Given the description of an element on the screen output the (x, y) to click on. 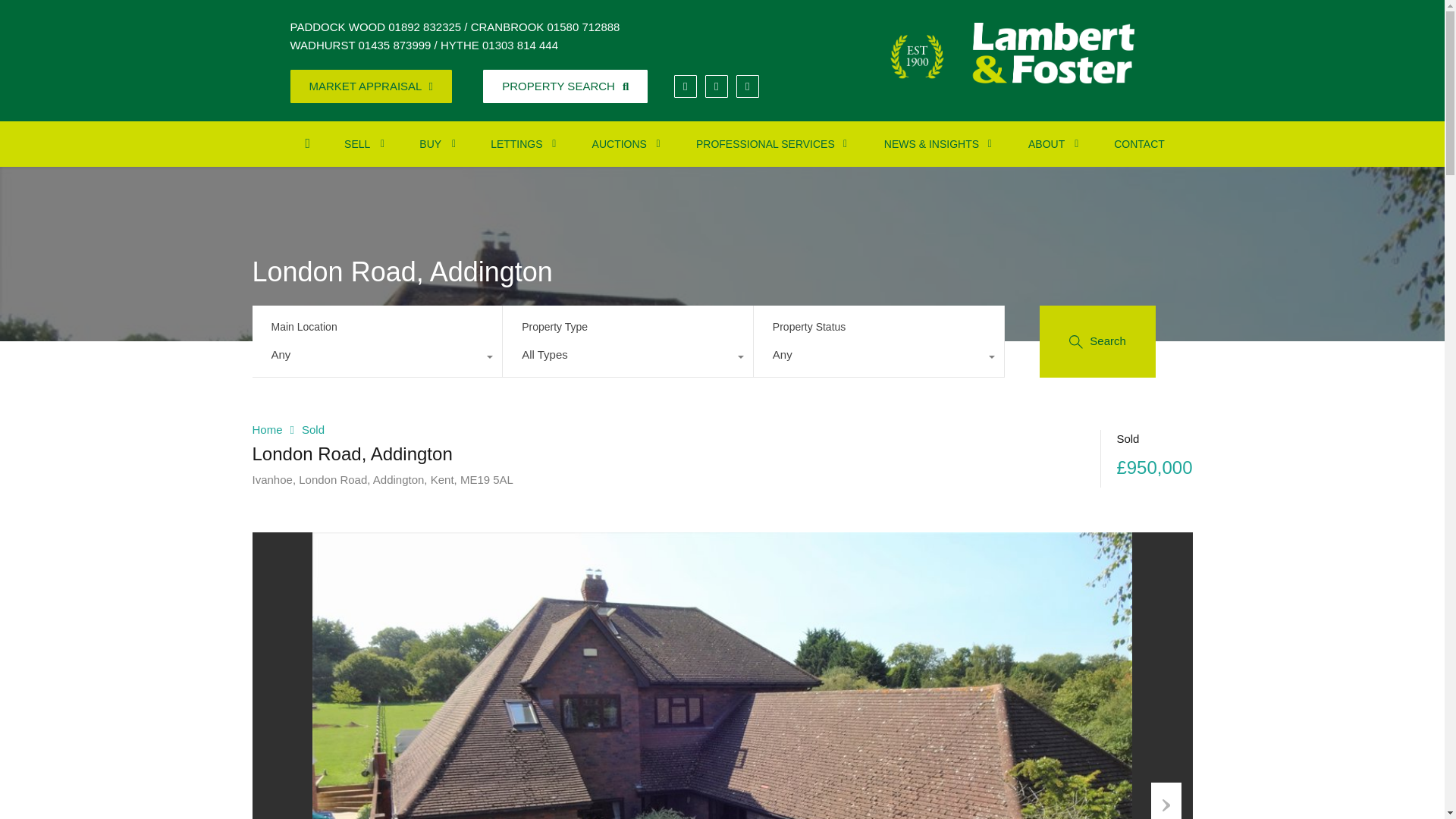
01580 712888 (583, 26)
MARKET APPRAISAL (370, 86)
Any (376, 358)
01435 873999 (394, 44)
PROPERTY SEARCH (565, 86)
All Types (627, 358)
Any (879, 358)
01892 832325 (424, 26)
BUY (432, 143)
SELL (359, 143)
01303 814 444 (519, 44)
